Given the description of an element on the screen output the (x, y) to click on. 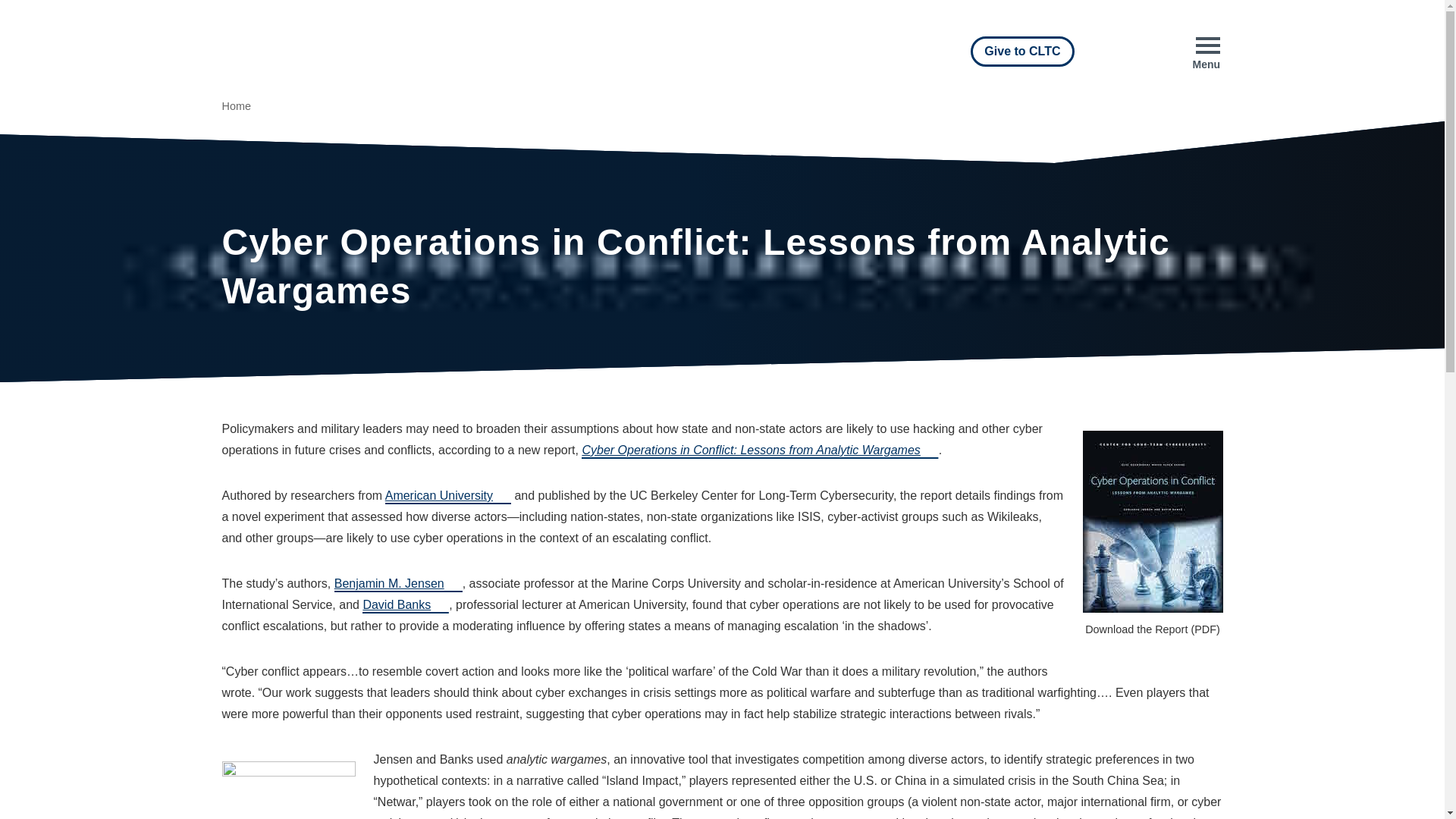
Home (235, 106)
CLTC (351, 51)
American University (448, 496)
David Banks (405, 605)
Search (1133, 51)
Benjamin M. Jensen (398, 584)
Give to CLTC (1022, 51)
Cyber Operations in Conflict: Lessons from Analytic Wargames (758, 450)
